Given the description of an element on the screen output the (x, y) to click on. 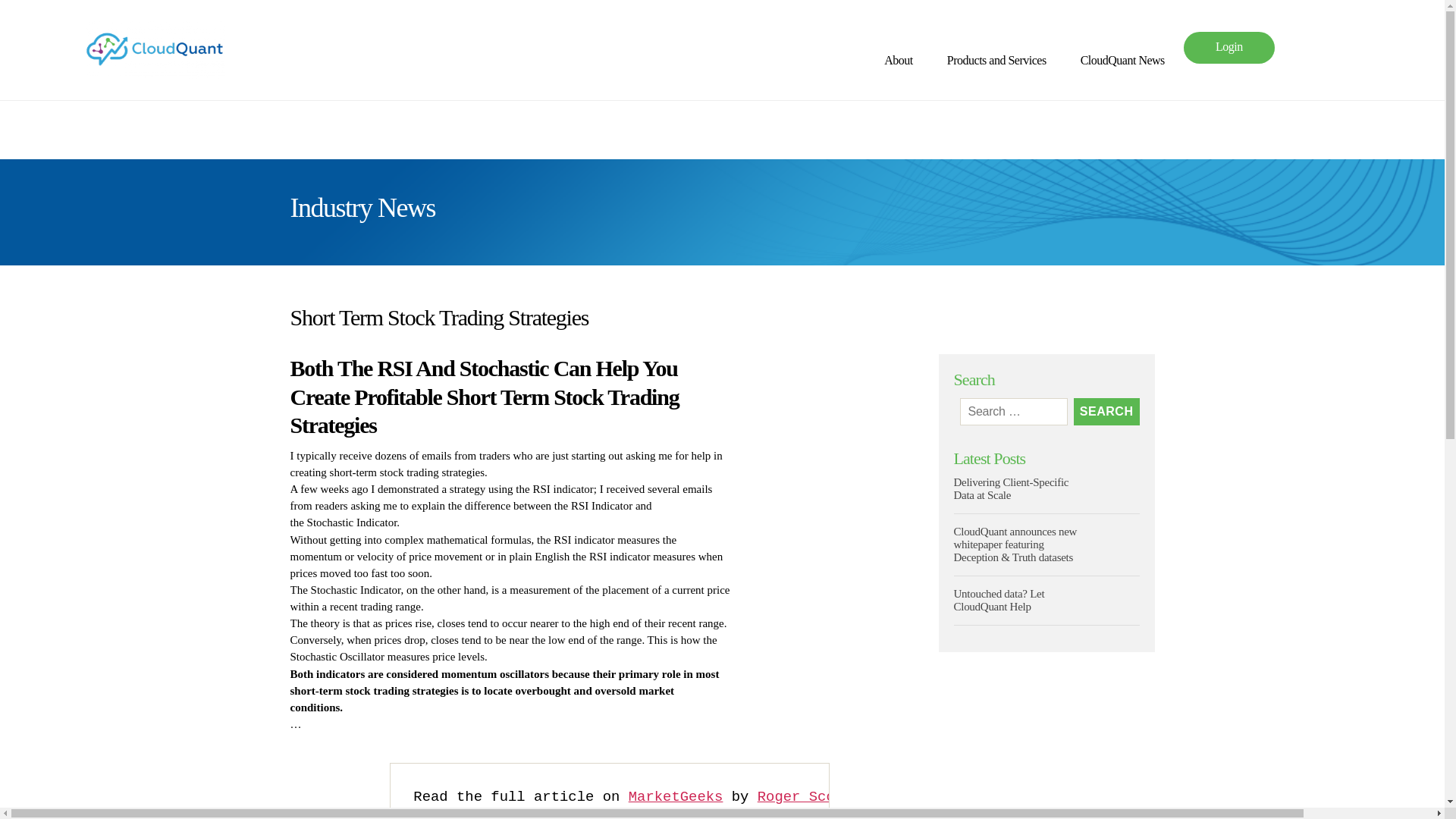
Products and Services (1004, 60)
About (905, 60)
Login (1229, 47)
Search (1107, 411)
Search (1107, 411)
Posts by Roger Scott (804, 796)
CloudQuant News (1122, 60)
